Given the description of an element on the screen output the (x, y) to click on. 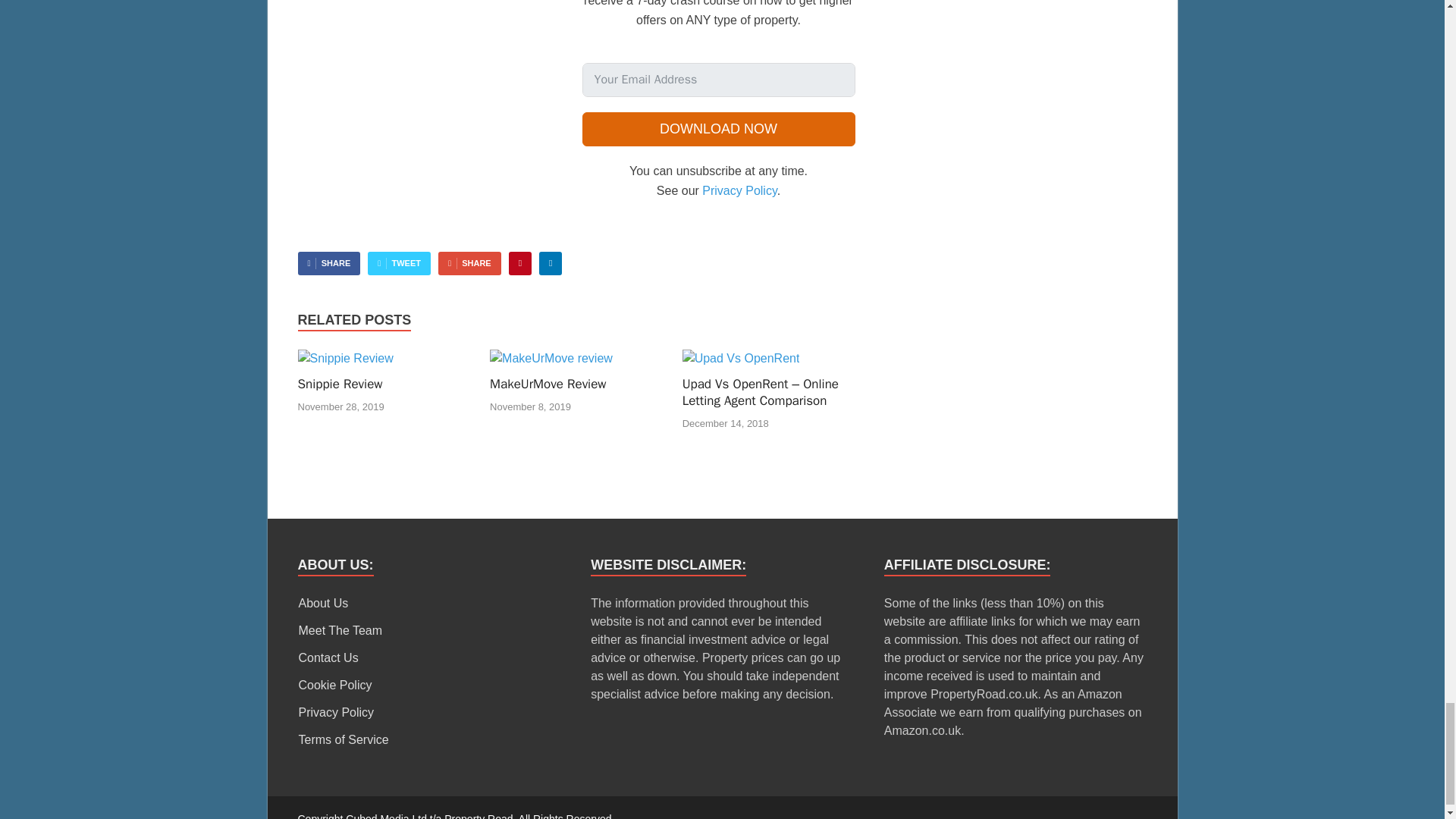
MakeUrMove Review (547, 383)
MakeUrMove Review (550, 358)
Snippie Review (339, 383)
Snippie Review (345, 358)
